Given the description of an element on the screen output the (x, y) to click on. 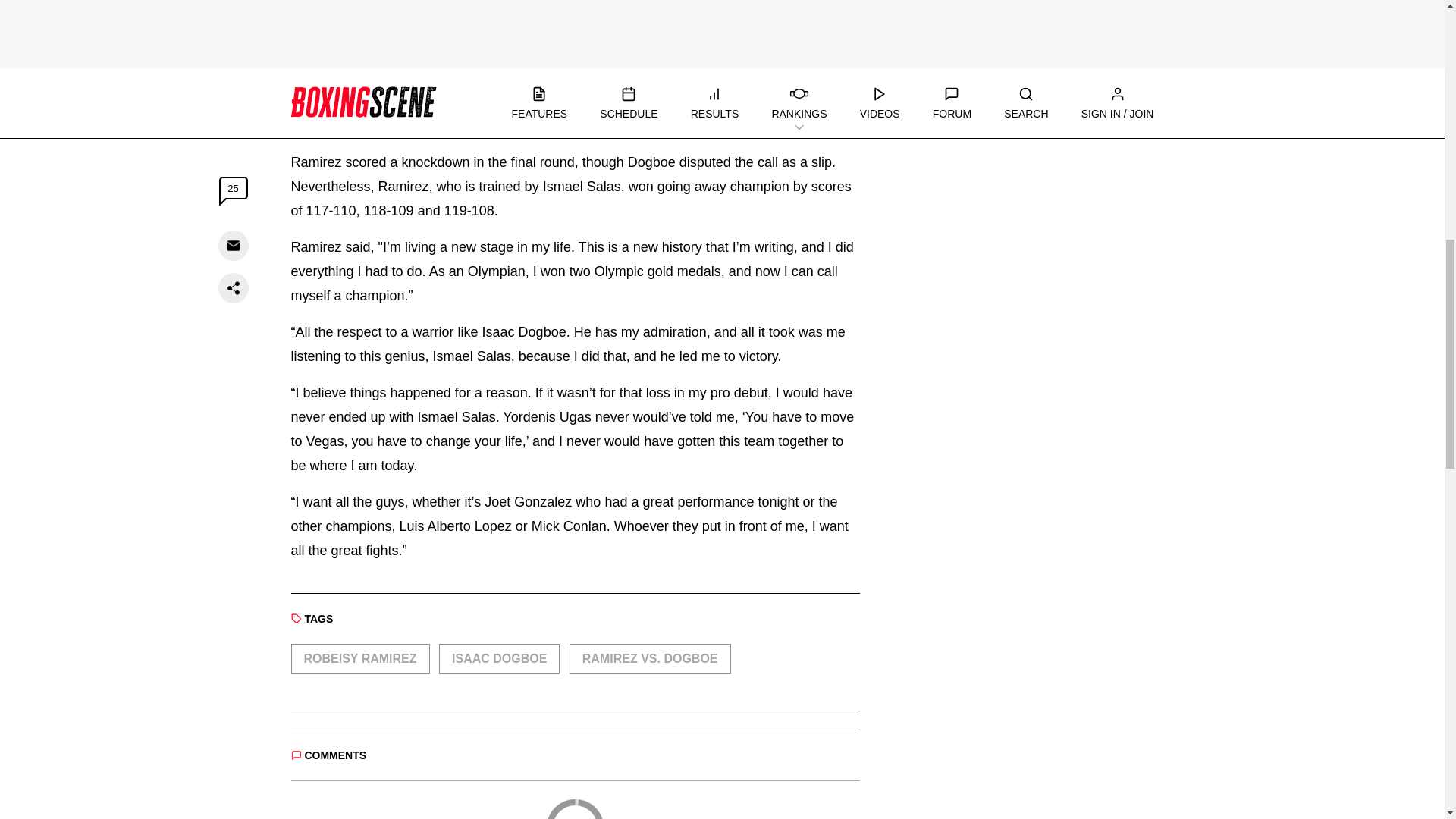
RAMIREZ VS. DOGBOE (649, 658)
ROBEISY RAMIREZ (360, 658)
ISAAC DOGBOE (499, 658)
